Given the description of an element on the screen output the (x, y) to click on. 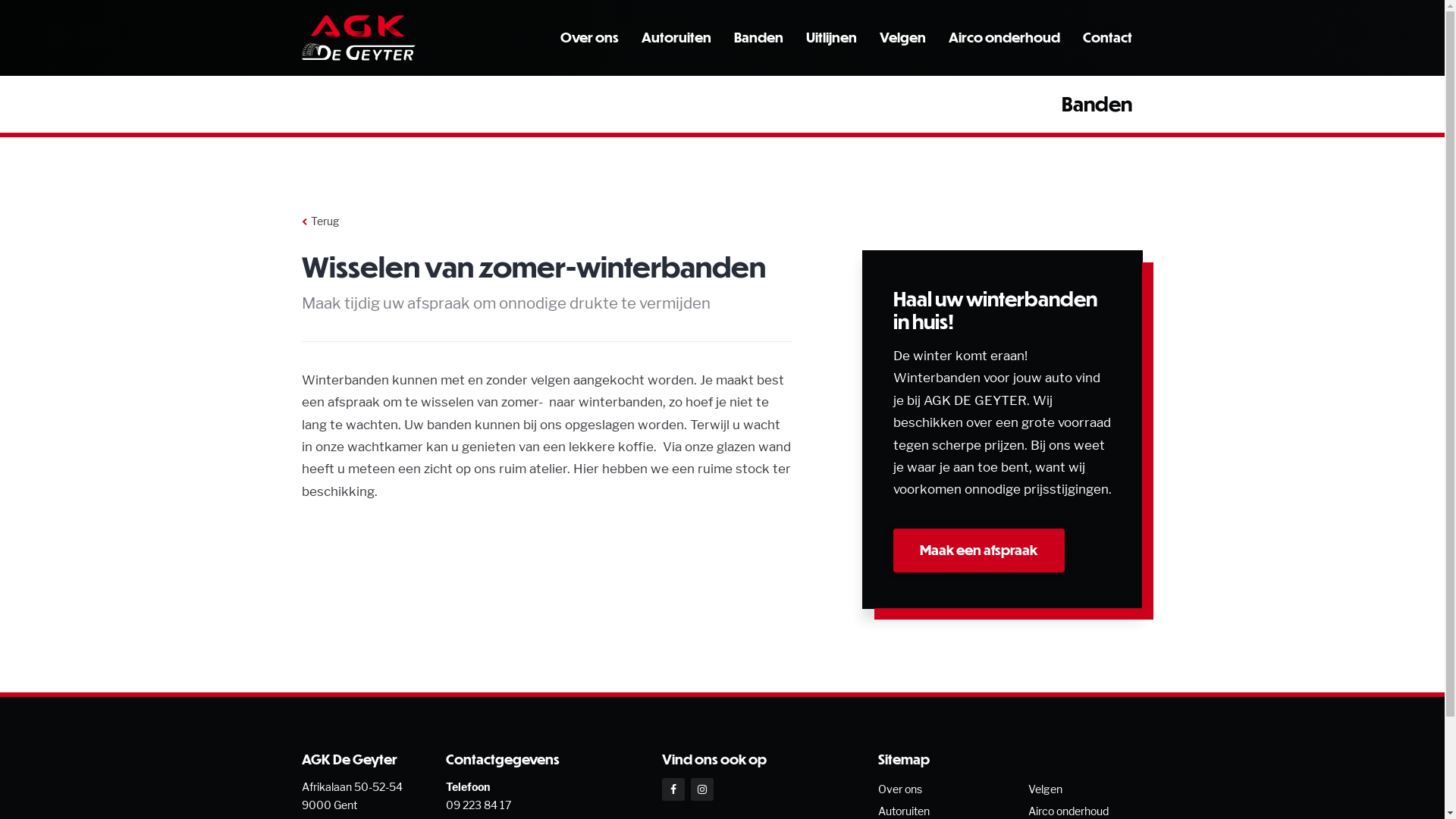
Over ons Element type: text (588, 36)
Terug Element type: text (319, 221)
Maak een afspraak Element type: text (978, 550)
Velgen Element type: text (902, 36)
Velgen Element type: text (1045, 789)
Banden Element type: text (758, 36)
Autoruiten Element type: text (676, 36)
Over ons Element type: text (900, 789)
09 223 84 17 Element type: text (478, 804)
Contact Element type: text (1107, 36)
Airco onderhoud Element type: text (1003, 36)
Uitlijnen Element type: text (830, 36)
